Given the description of an element on the screen output the (x, y) to click on. 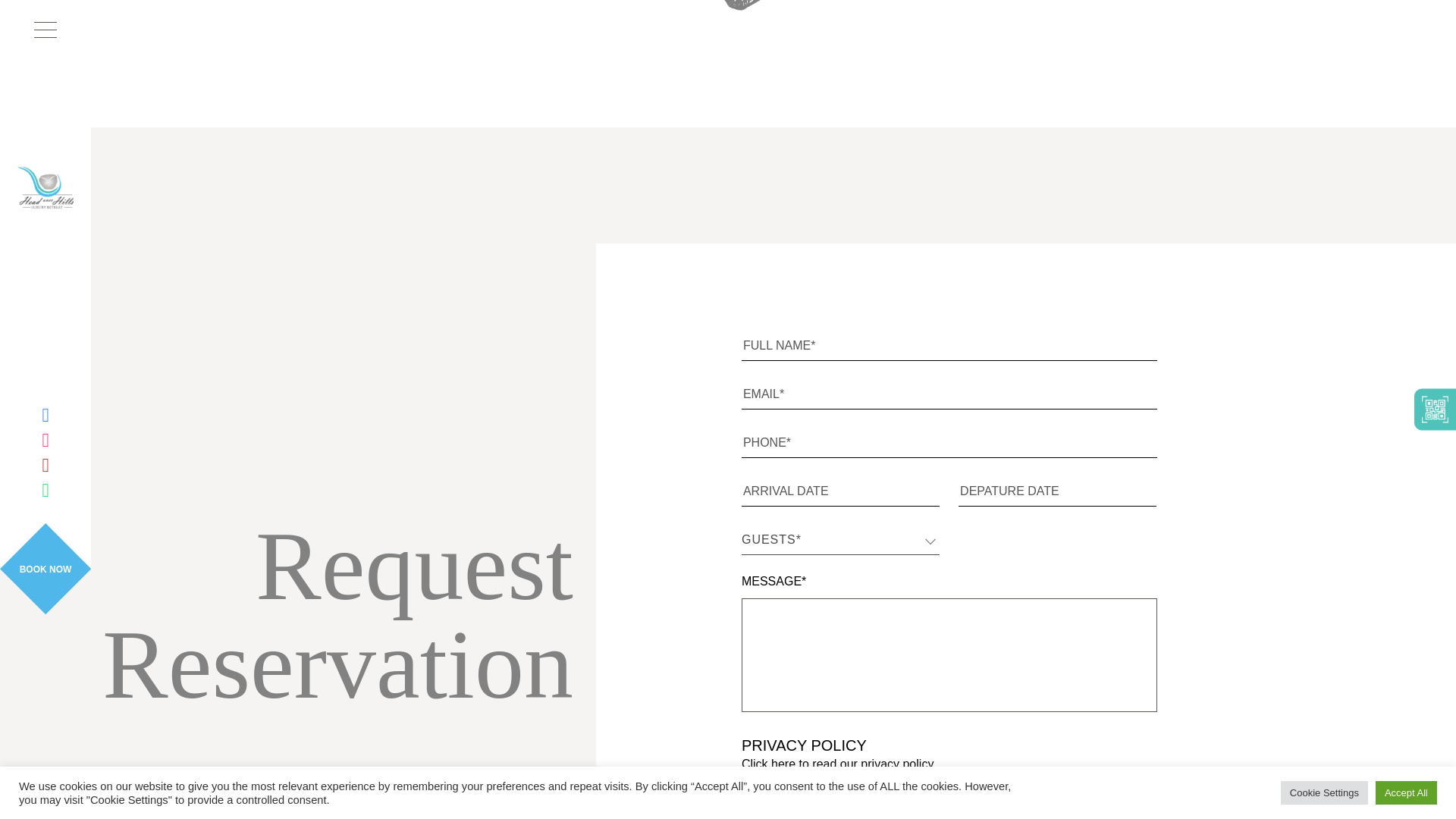
PRIVACY POLICY (803, 745)
